Given the description of an element on the screen output the (x, y) to click on. 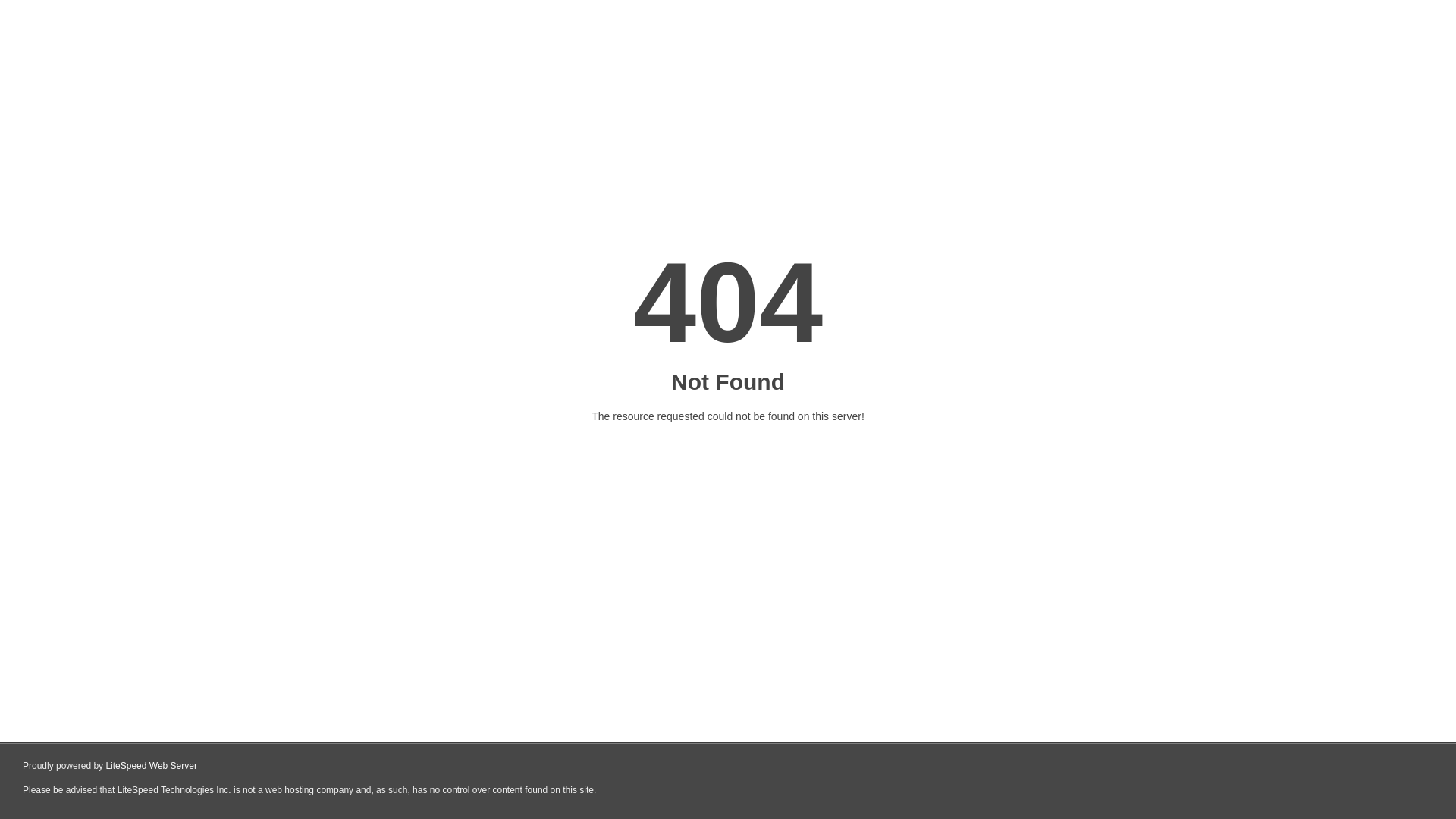
LiteSpeed Web Server Element type: text (151, 765)
